Given the description of an element on the screen output the (x, y) to click on. 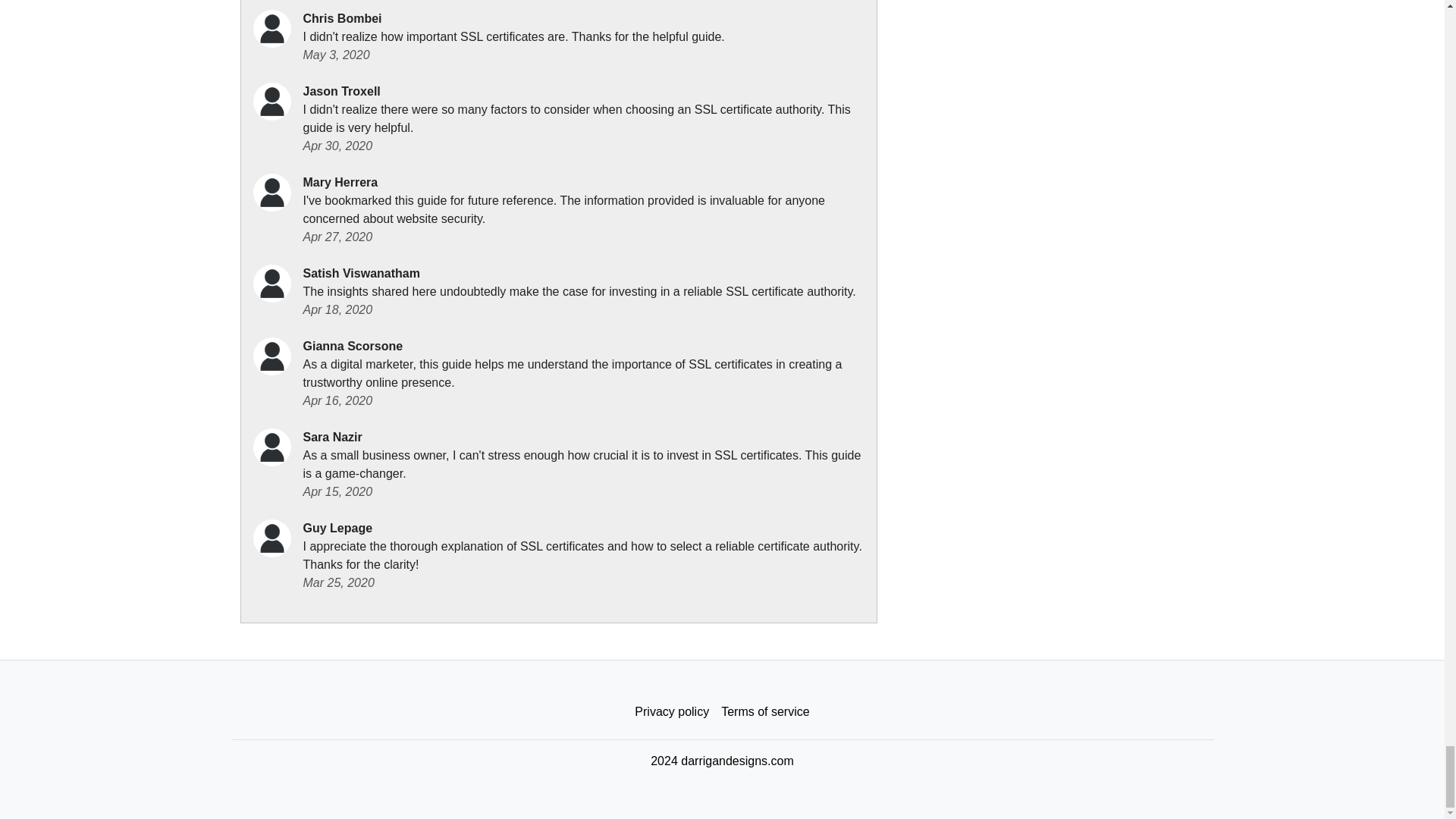
Privacy policy (671, 711)
Terms of service (764, 711)
